Given the description of an element on the screen output the (x, y) to click on. 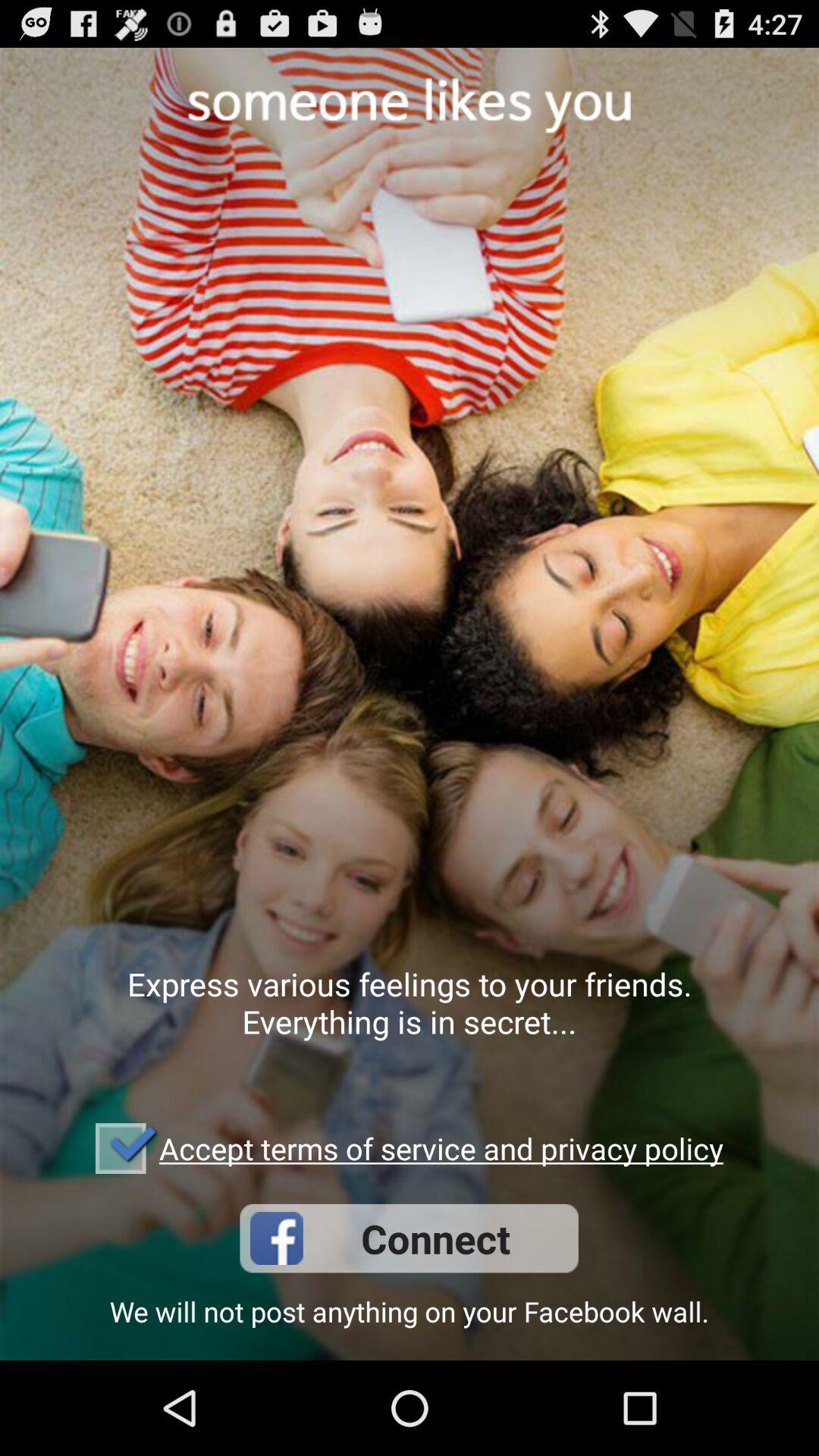
press the app below accept terms of icon (409, 1238)
